Given the description of an element on the screen output the (x, y) to click on. 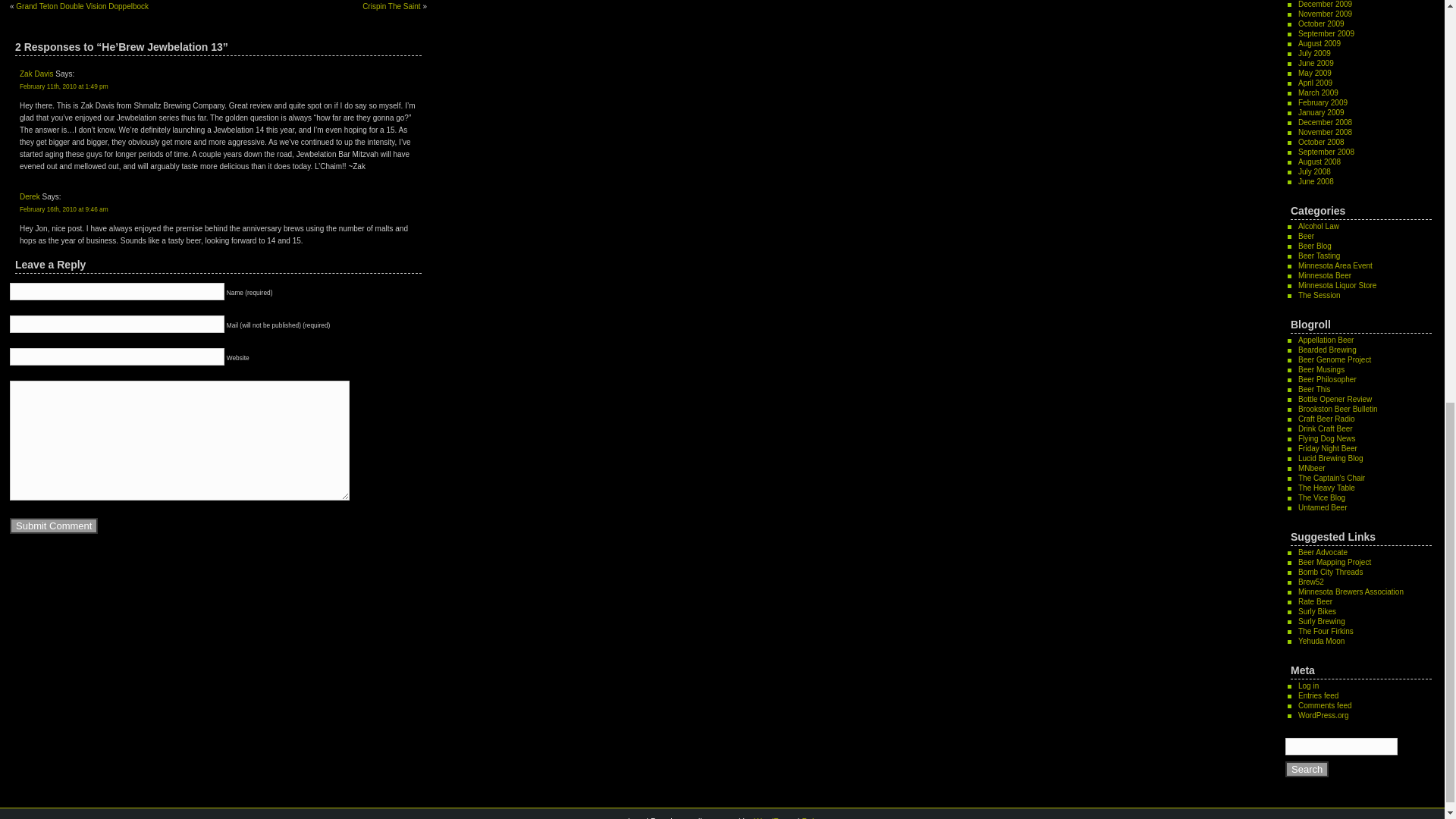
Good beer blog (1326, 339)
February 16th, 2010 at 9:46 am (63, 208)
Derek (30, 196)
Solid Local Beer Blog (1320, 369)
Search (1306, 769)
Zak Davis (36, 73)
February 11th, 2010 at 1:49 pm (63, 86)
Submit Comment (53, 525)
Good beer blog (1327, 379)
Submit Comment (53, 525)
